Given the description of an element on the screen output the (x, y) to click on. 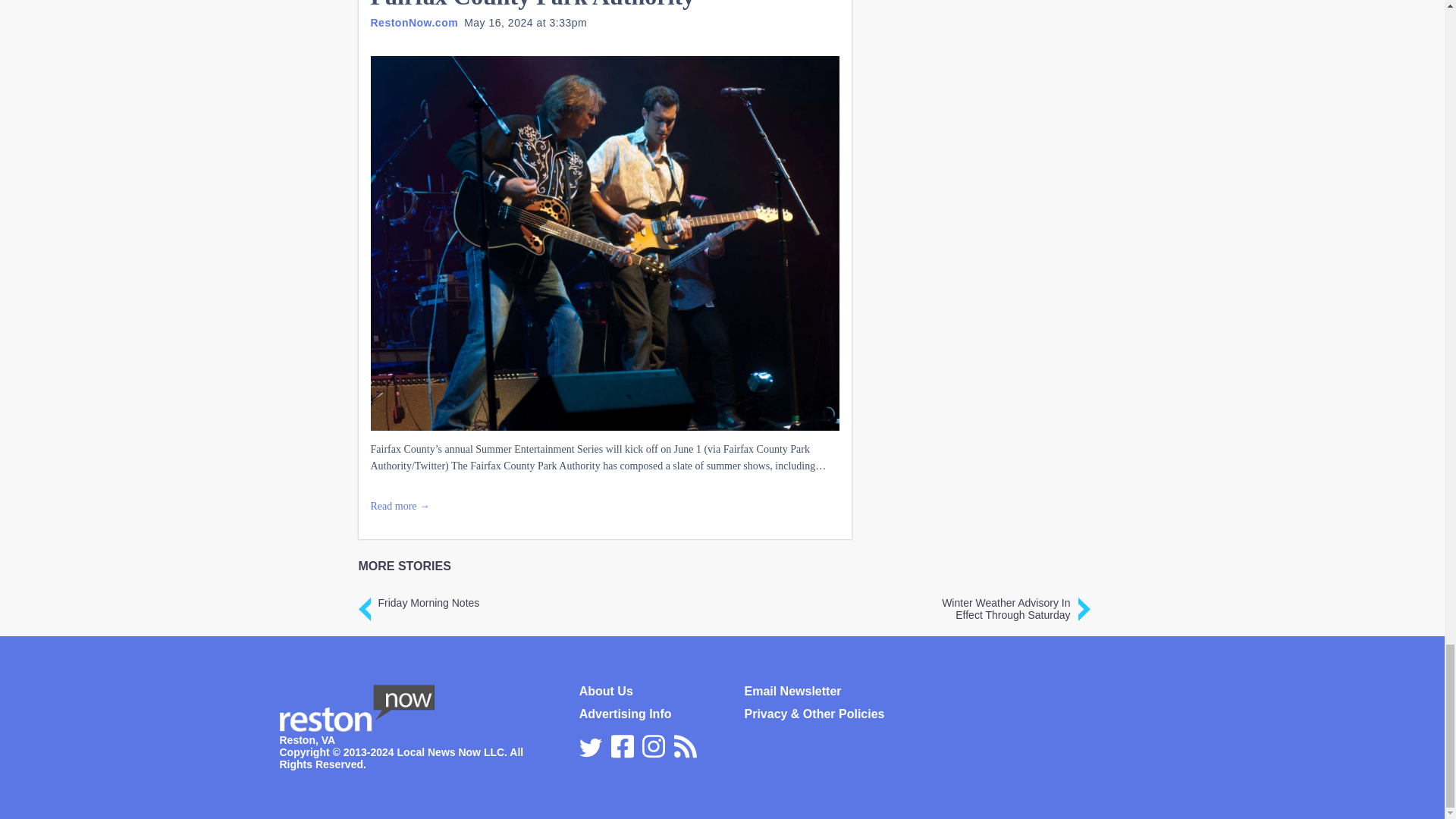
Twitter (590, 747)
Posts by RestonNow.com (413, 22)
Facebook (622, 744)
